Given the description of an element on the screen output the (x, y) to click on. 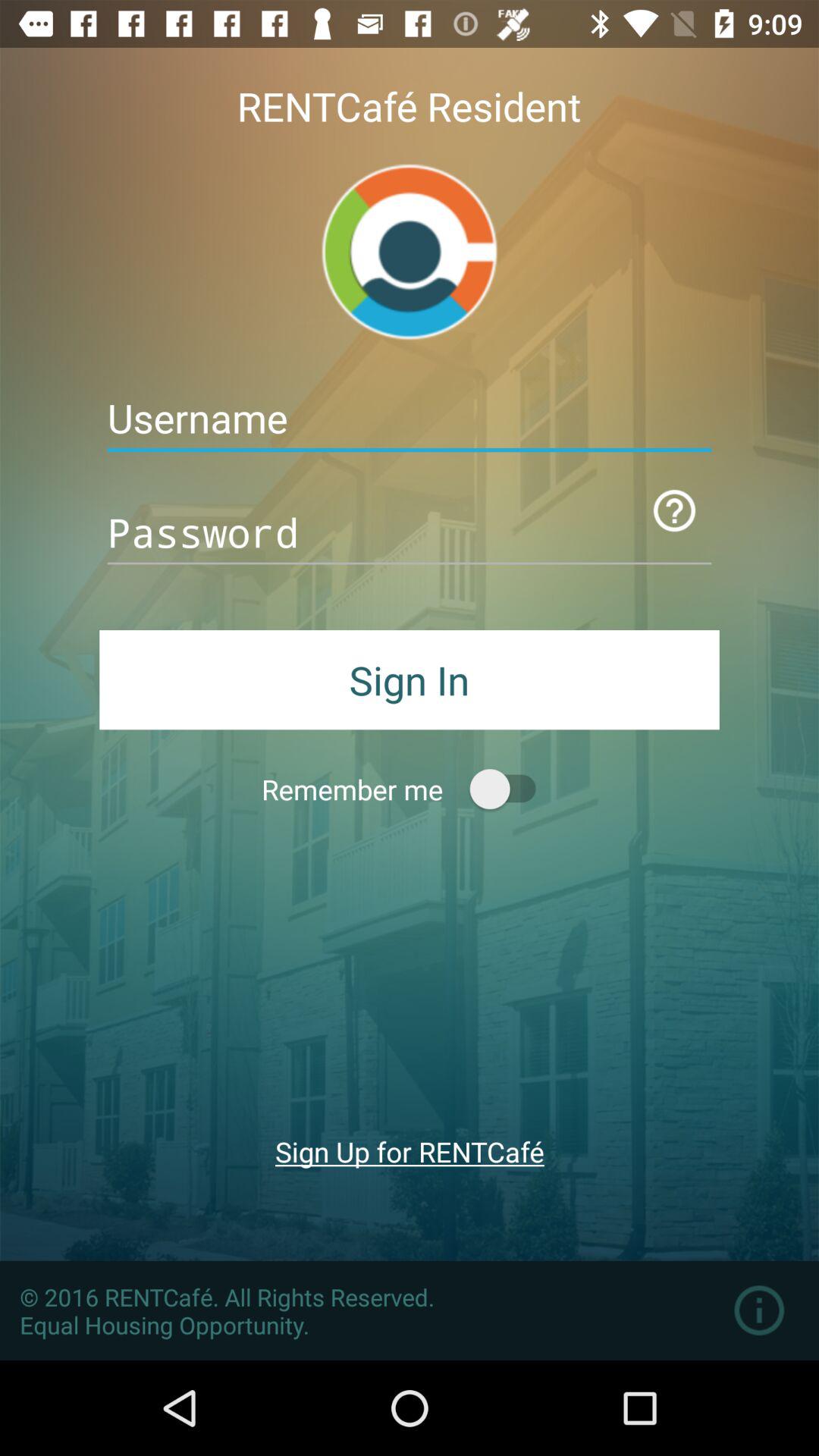
remember me button (509, 789)
